Given the description of an element on the screen output the (x, y) to click on. 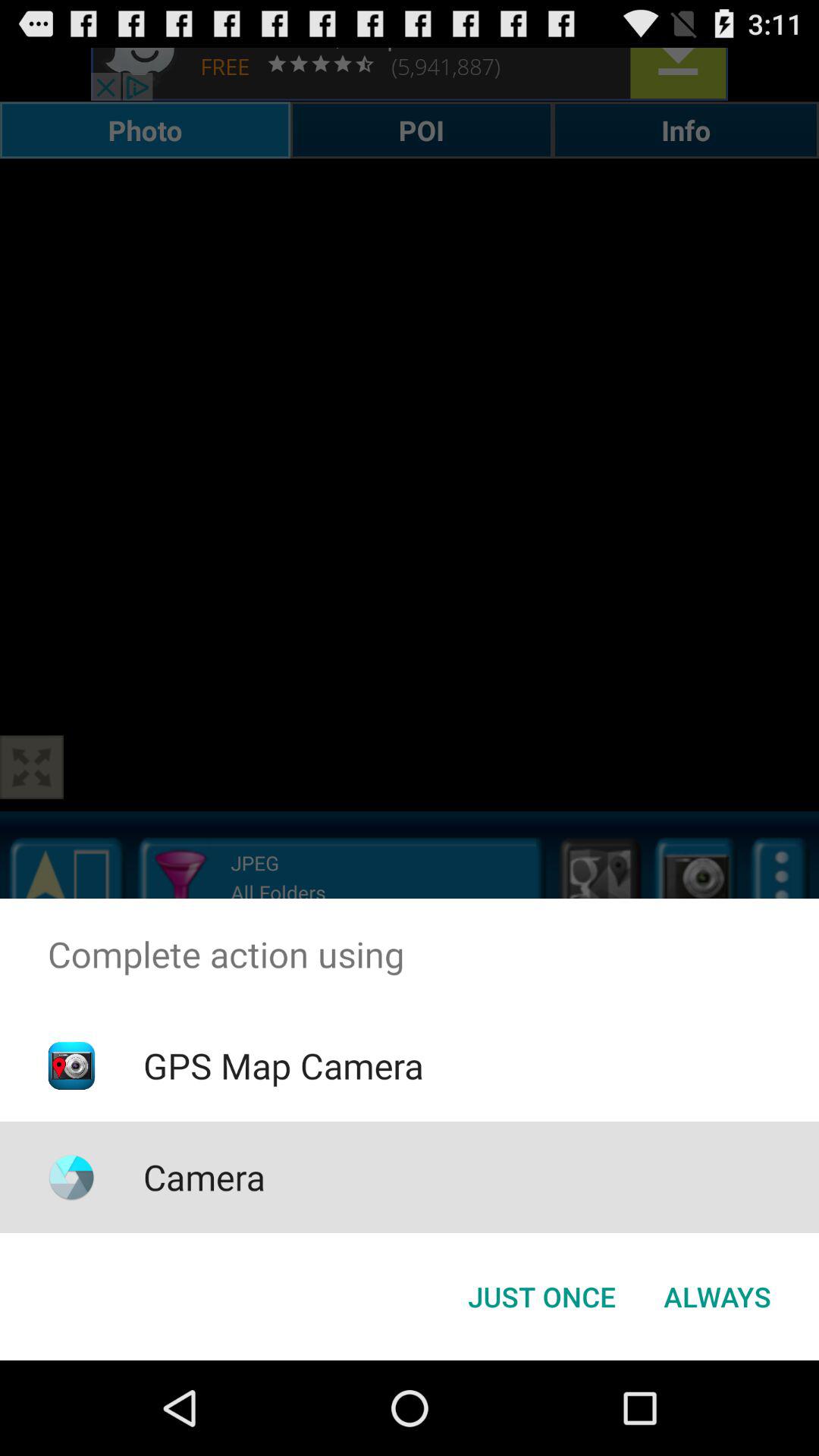
launch button next to the always item (541, 1296)
